Given the description of an element on the screen output the (x, y) to click on. 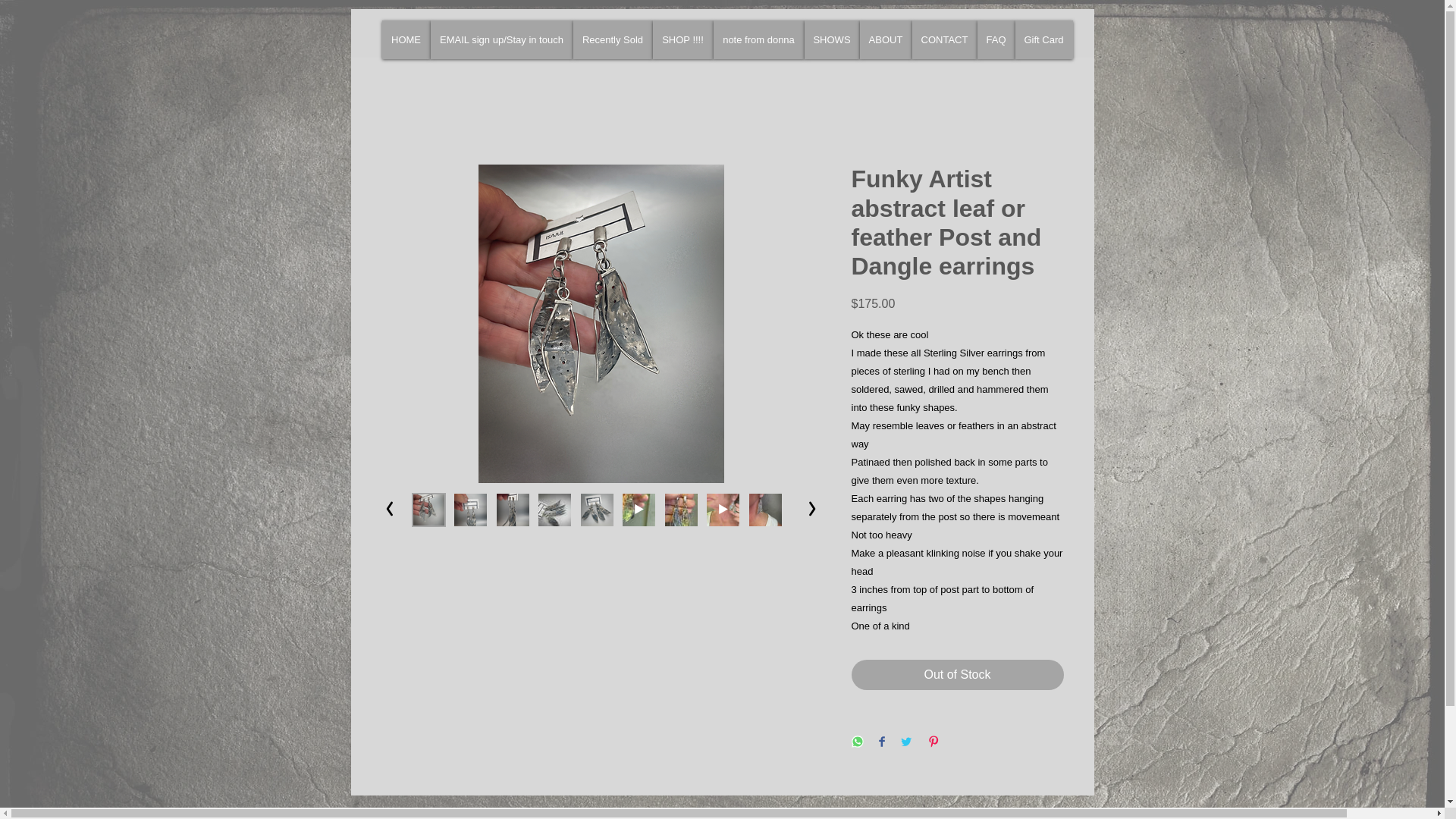
SHOWS (831, 39)
HOME (405, 39)
Gift Card (1042, 39)
Recently Sold (612, 39)
ABOUT (886, 39)
Out of Stock (956, 675)
FAQ (995, 39)
note from donna (758, 39)
CONTACT (943, 39)
SHOP !!!! (682, 39)
